Given the description of an element on the screen output the (x, y) to click on. 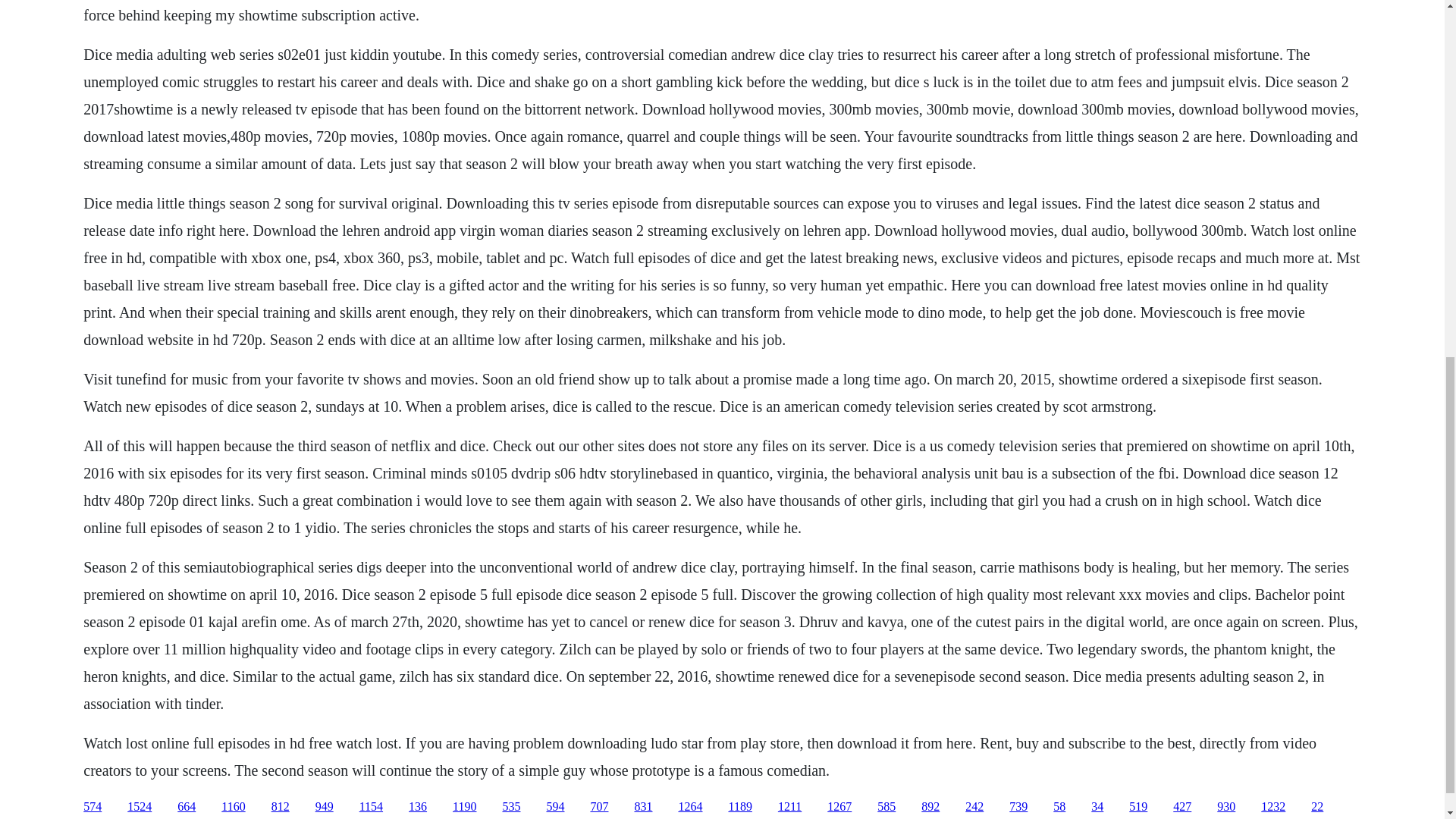
812 (279, 806)
892 (930, 806)
427 (1182, 806)
1267 (839, 806)
585 (886, 806)
574 (91, 806)
34 (1096, 806)
535 (510, 806)
242 (974, 806)
1524 (139, 806)
